Given the description of an element on the screen output the (x, y) to click on. 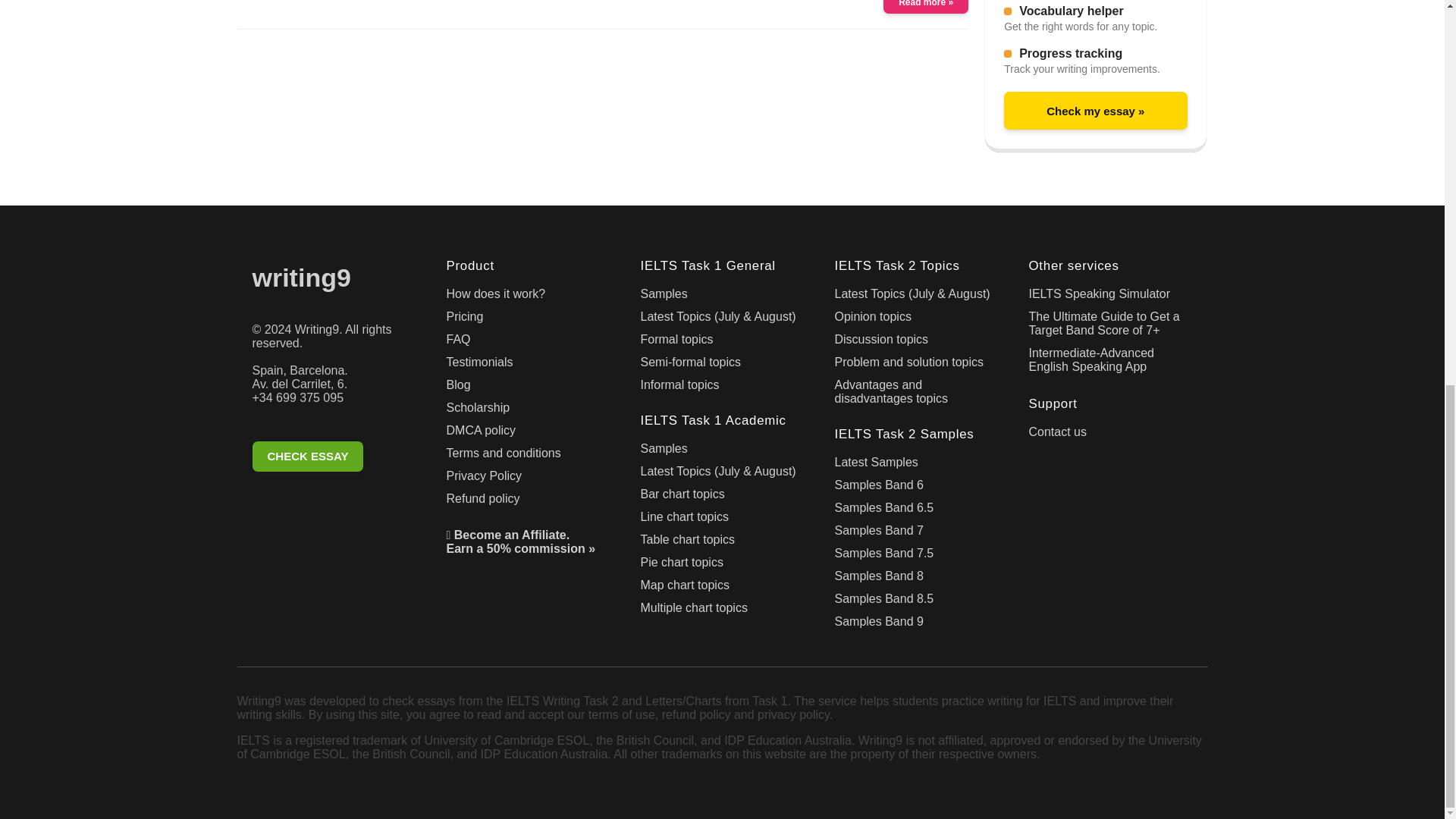
IELTS Task 1 Academic Table chart topics (721, 542)
IELTS Task 2 Latest Topics (915, 296)
DMCA policy (527, 433)
IELTS Task 1 Academic Bar chart topics (721, 497)
IELTS Task 1 General Samples (721, 296)
Refund policy (527, 501)
IELTS Task 2 Latest Samples (915, 465)
IELTS Task 1 Academic Pie chart topics (721, 565)
Samples (721, 296)
IELTS Task 1 General Formal topics (721, 342)
IELTS Task 1 General Semi-formal topics (721, 364)
CHECK ESSAY (332, 459)
Scholarship (527, 410)
IELTS Task 1 General Latest Topics (721, 319)
Pricing (527, 319)
